Given the description of an element on the screen output the (x, y) to click on. 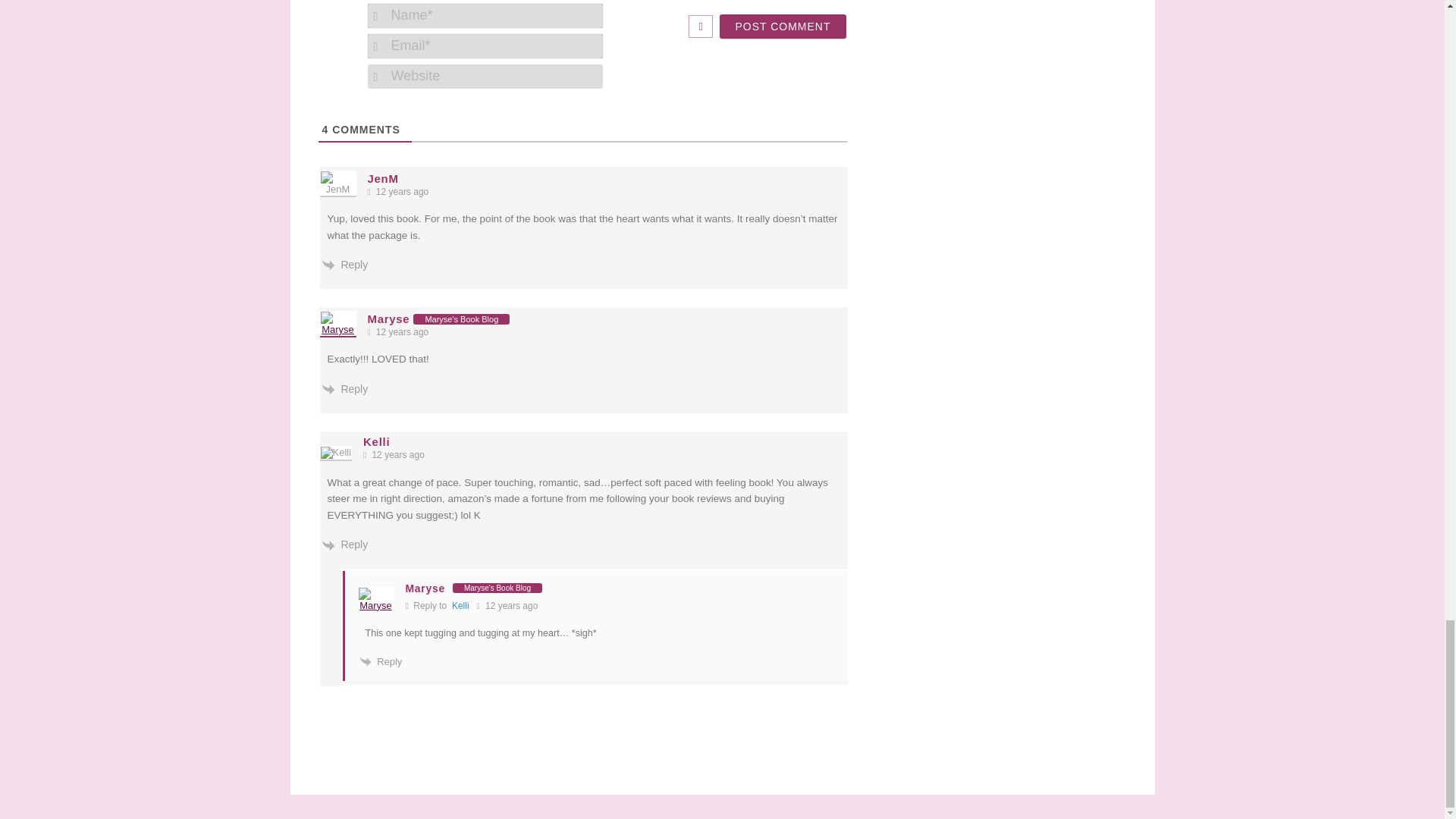
June 19, 2012 8:43 PM (397, 454)
Post Comment (782, 26)
June 15, 2012 8:21 PM (400, 332)
June 20, 2012 9:39 AM (507, 605)
June 15, 2012 8:19 PM (400, 192)
